Given the description of an element on the screen output the (x, y) to click on. 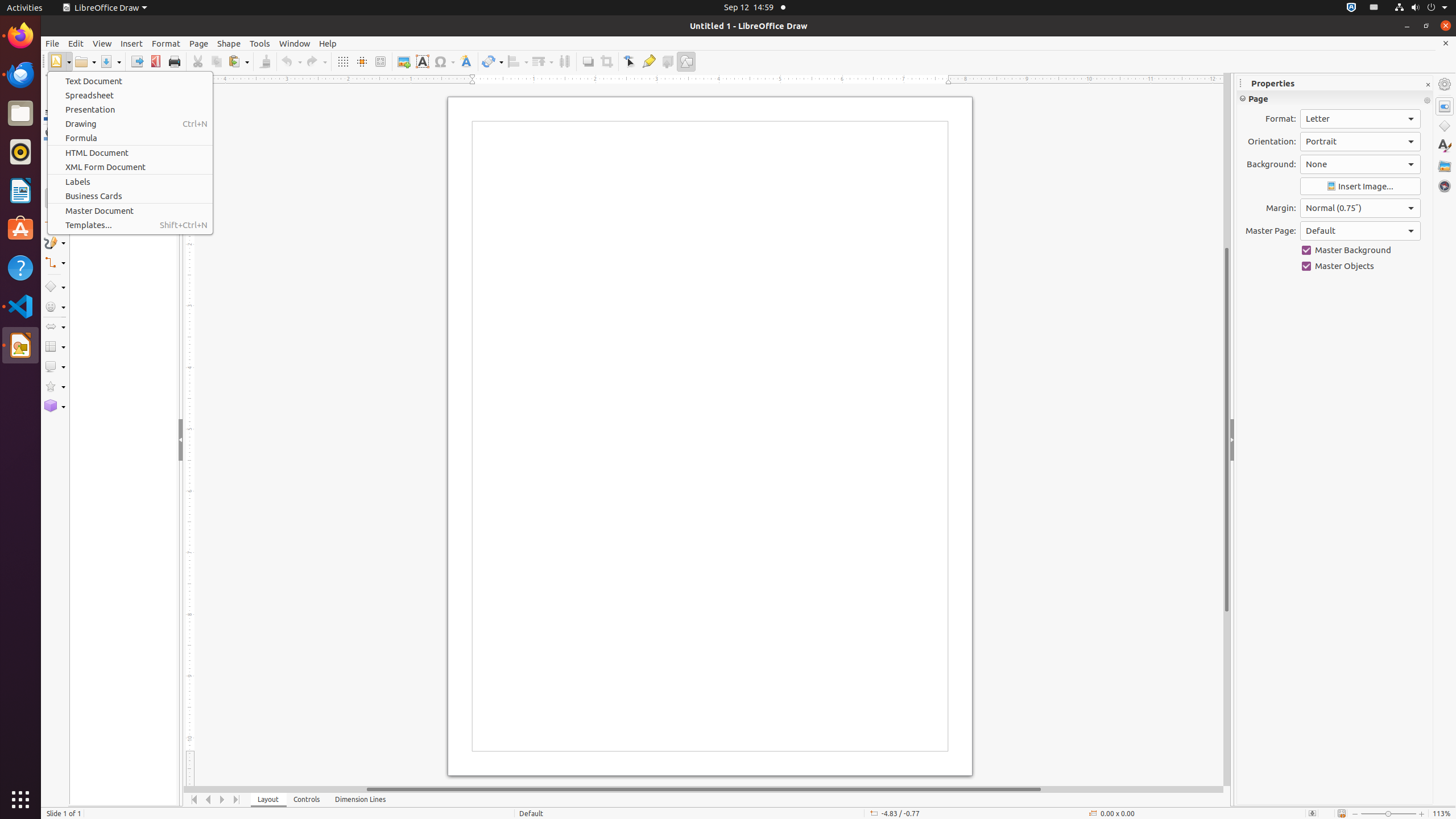
LibreOffice Draw Element type: push-button (20, 344)
Show Applications Element type: toggle-button (20, 799)
Thunderbird Mail Element type: push-button (20, 74)
